Given the description of an element on the screen output the (x, y) to click on. 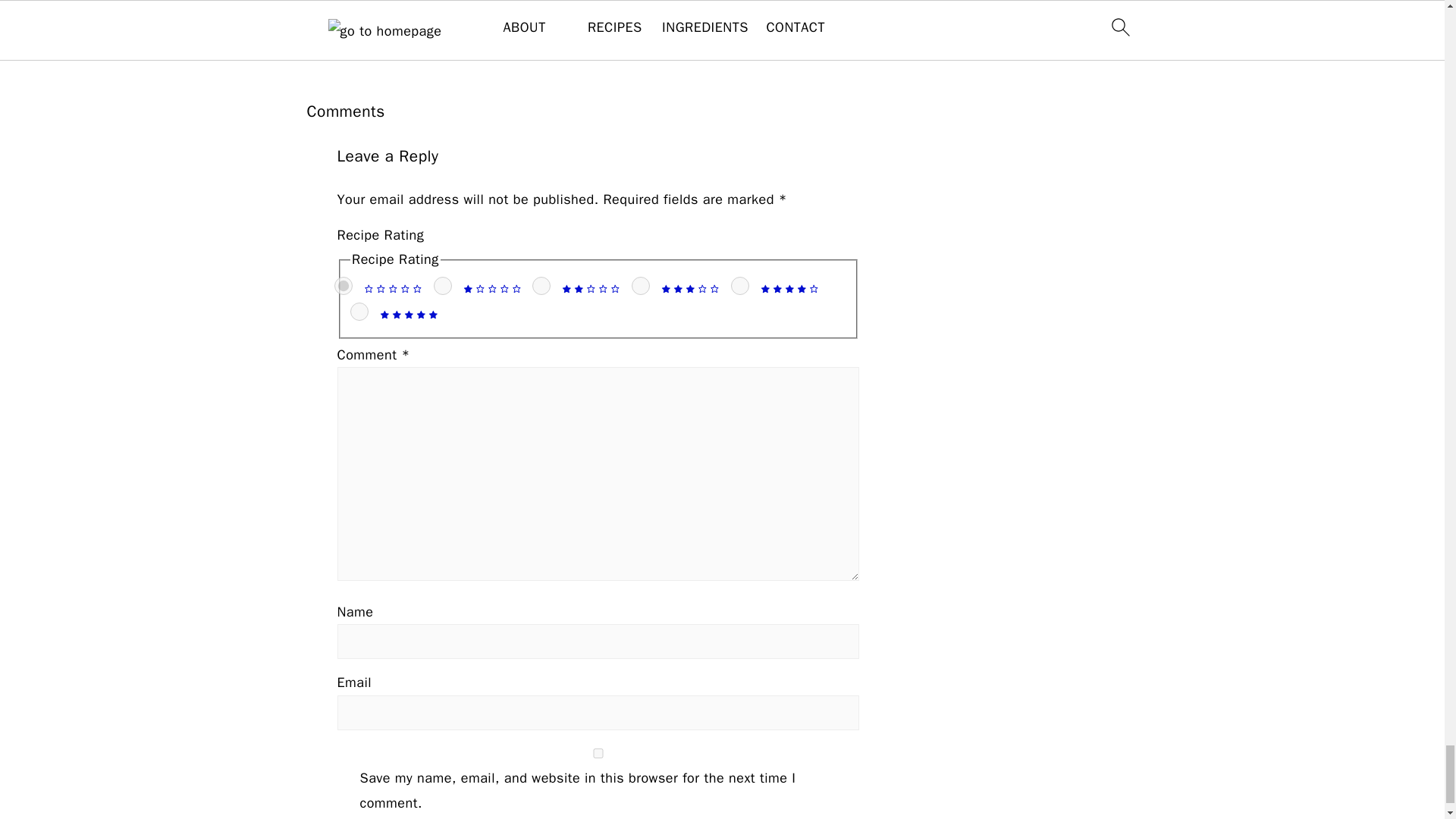
0 (343, 285)
yes (597, 753)
2 (541, 285)
4 (739, 285)
5 (359, 311)
3 (640, 285)
1 (442, 285)
